Given the description of an element on the screen output the (x, y) to click on. 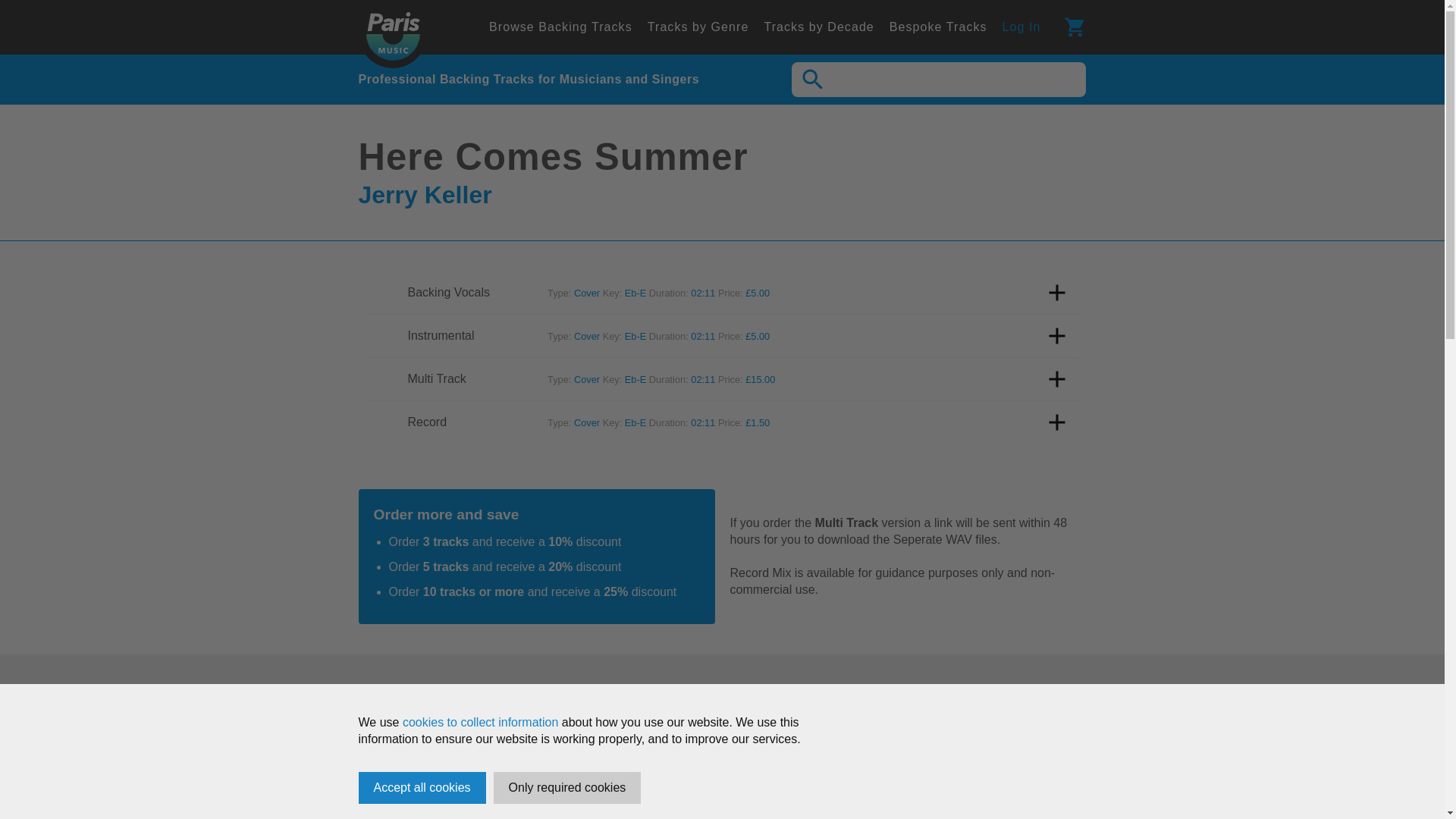
Play sample (380, 422)
Play sample (380, 292)
Add to basket (1056, 335)
Add to basket (1056, 421)
Add to basket (1056, 292)
Browse Backing Tracks (560, 26)
Add to basket (1056, 379)
